Given the description of an element on the screen output the (x, y) to click on. 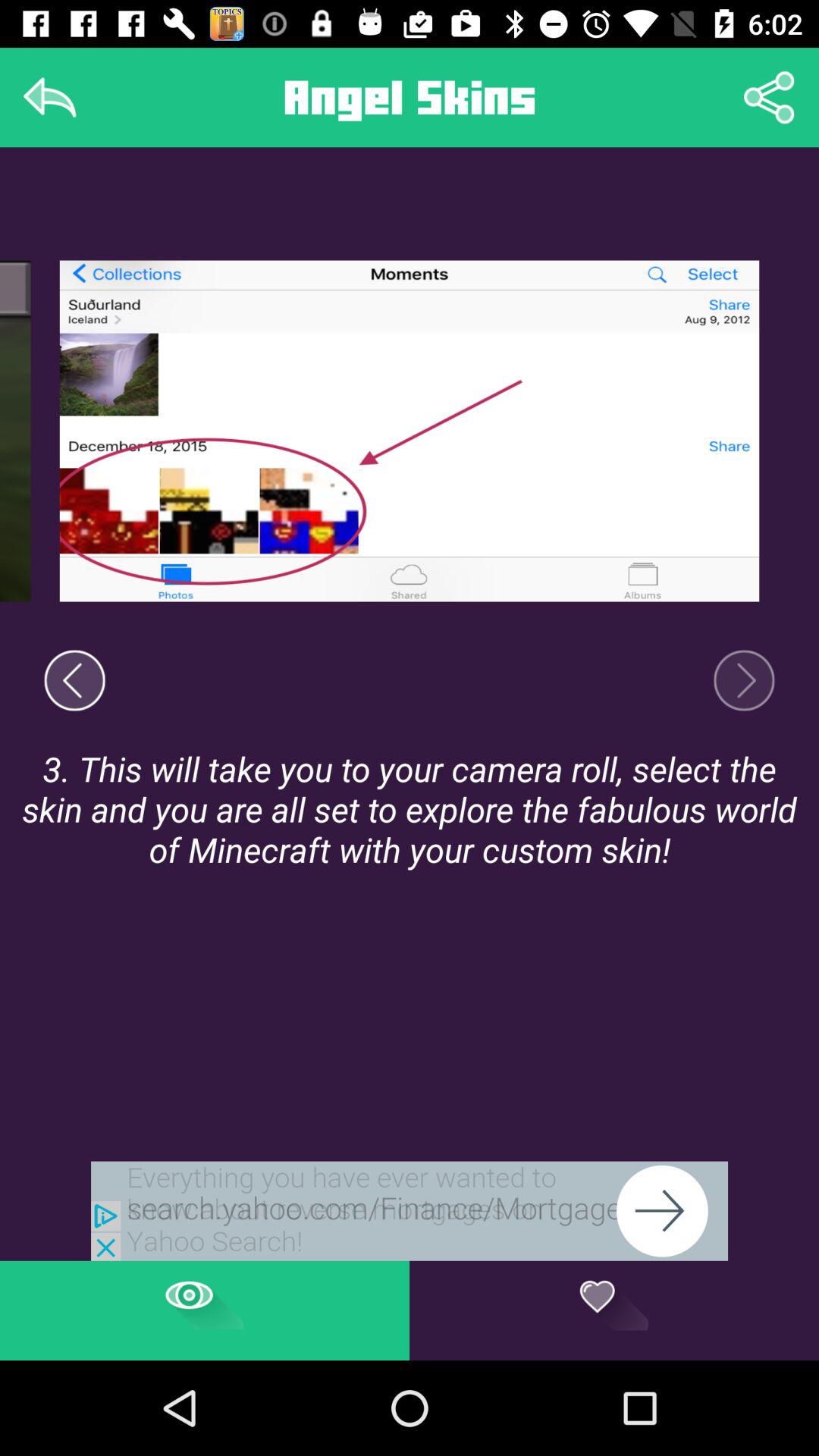
go to back (49, 97)
